Given the description of an element on the screen output the (x, y) to click on. 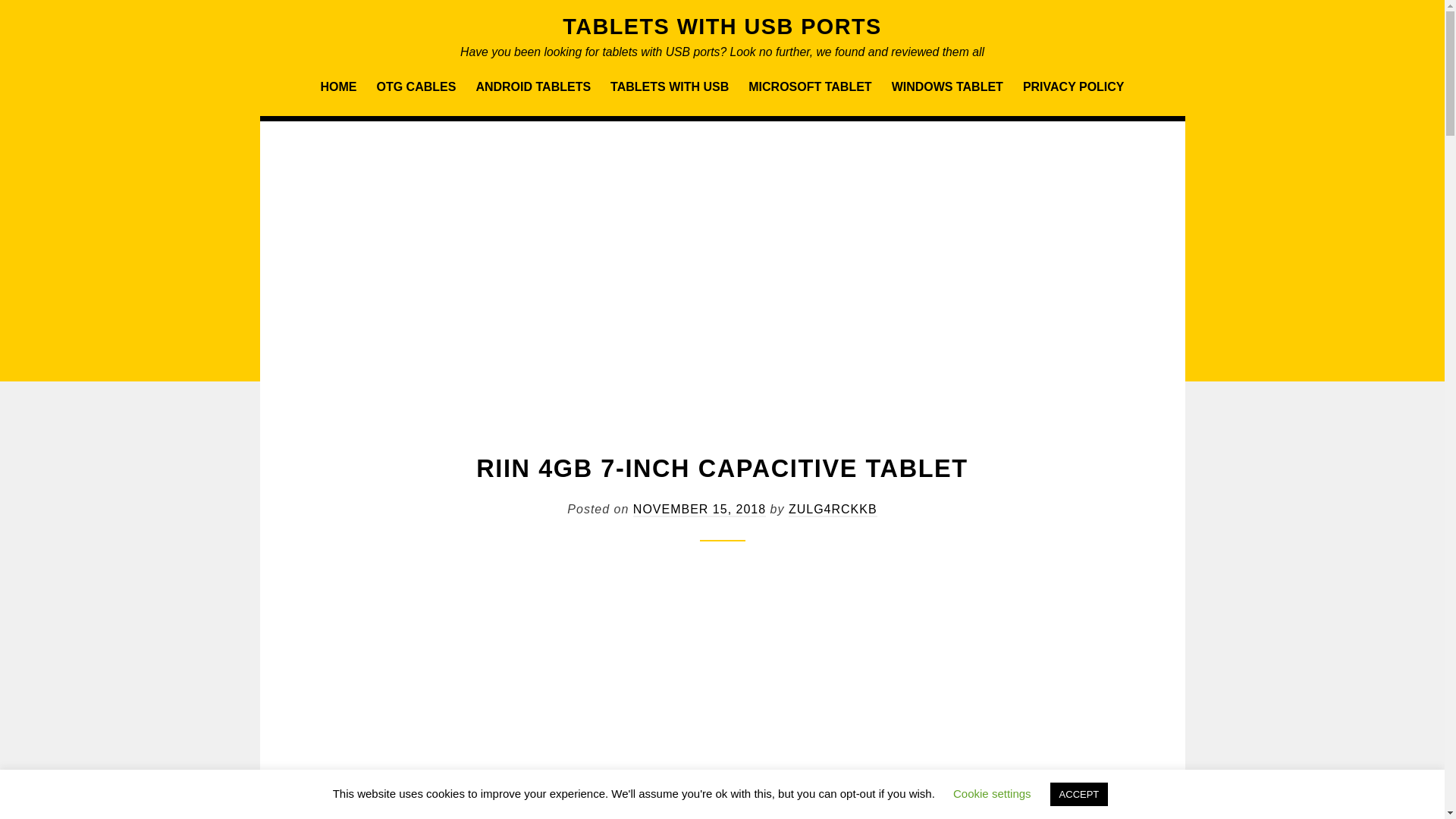
MICROSOFT TABLET (810, 86)
ACCEPT (1078, 793)
PRIVACY POLICY (1073, 86)
NOVEMBER 15, 2018 (699, 509)
TABLETS WITH USB PORTS (721, 26)
Cookie settings (991, 793)
TABLETS WITH USB (669, 86)
WINDOWS TABLET (946, 86)
ANDROID TABLETS (532, 86)
